Given the description of an element on the screen output the (x, y) to click on. 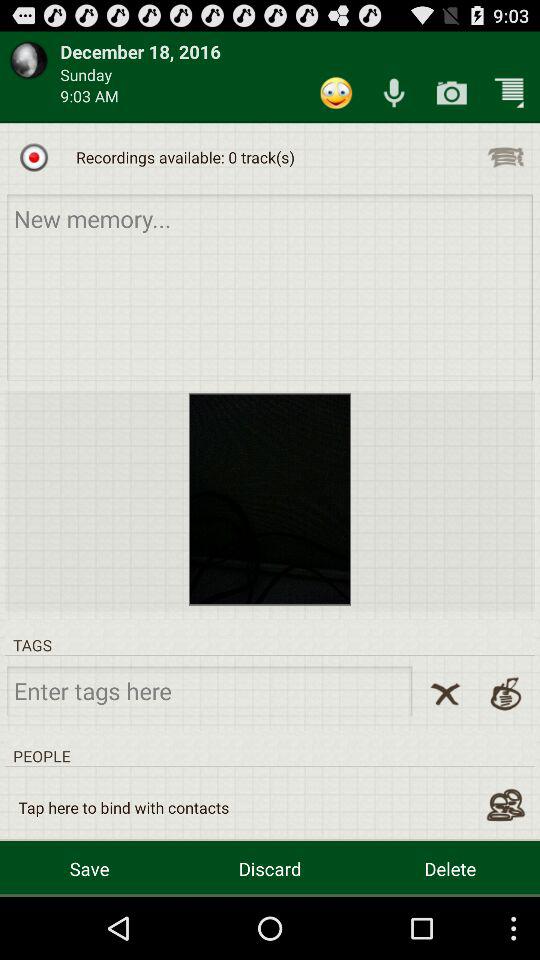
enter a memory (269, 286)
